Given the description of an element on the screen output the (x, y) to click on. 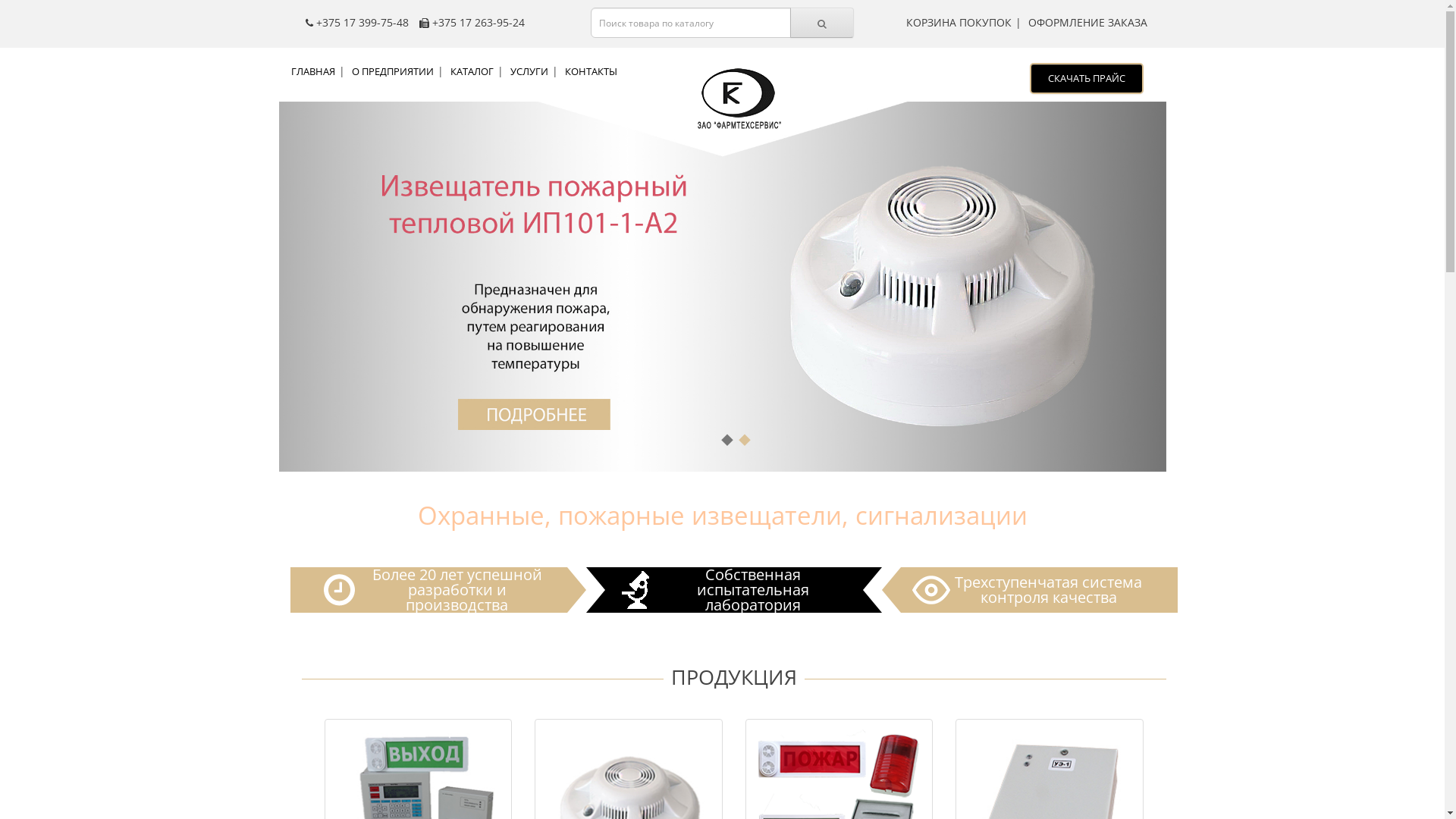
Farm Element type: hover (736, 100)
